Given the description of an element on the screen output the (x, y) to click on. 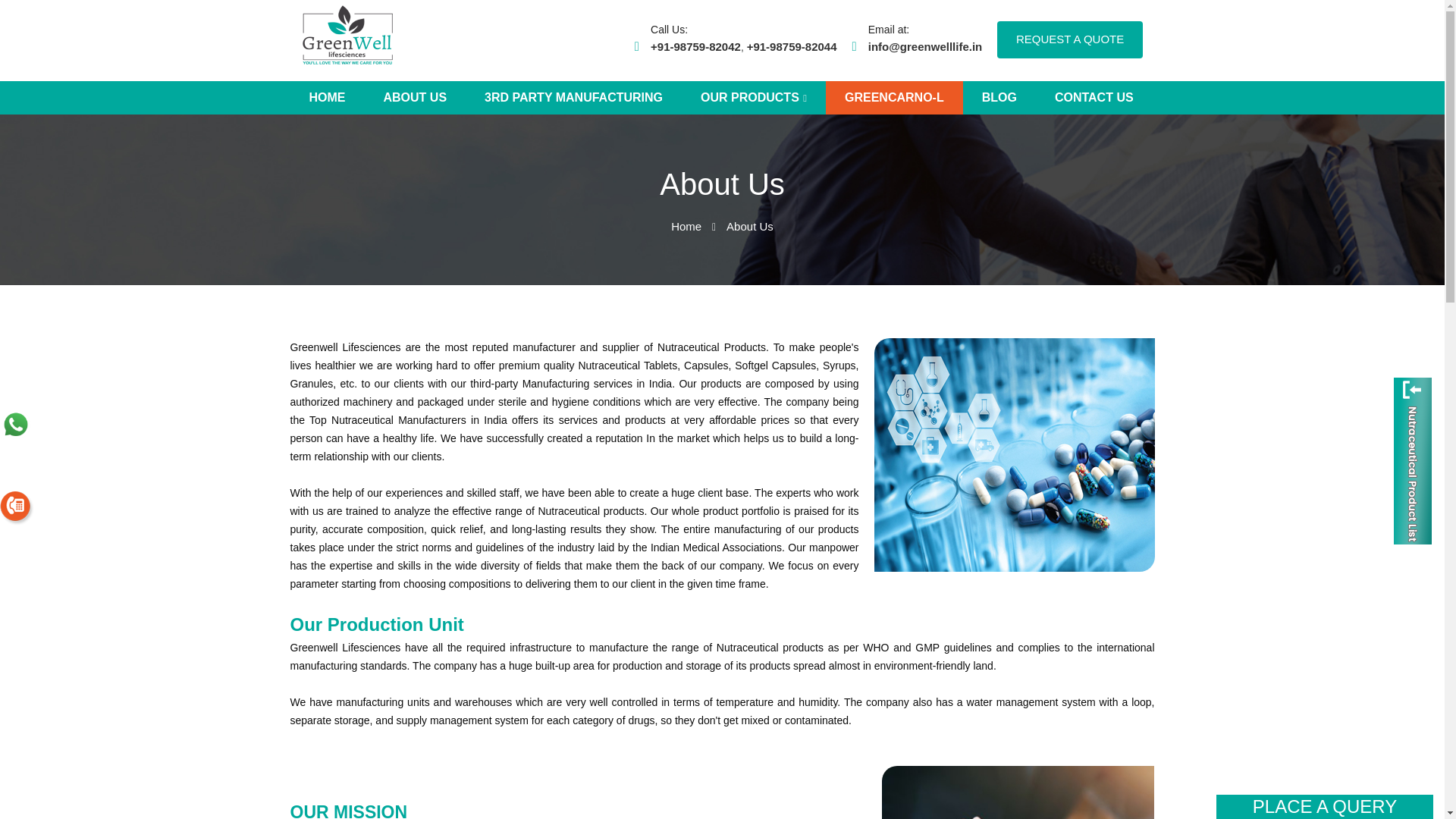
REQUEST A QUOTE (1069, 39)
NUTRACEUTICAL PRODUCT LIST (1412, 459)
3RD PARTY MANUFACTURING (573, 97)
OUR PRODUCTS (753, 97)
ABOUT US (414, 97)
HOME (326, 97)
